Given the description of an element on the screen output the (x, y) to click on. 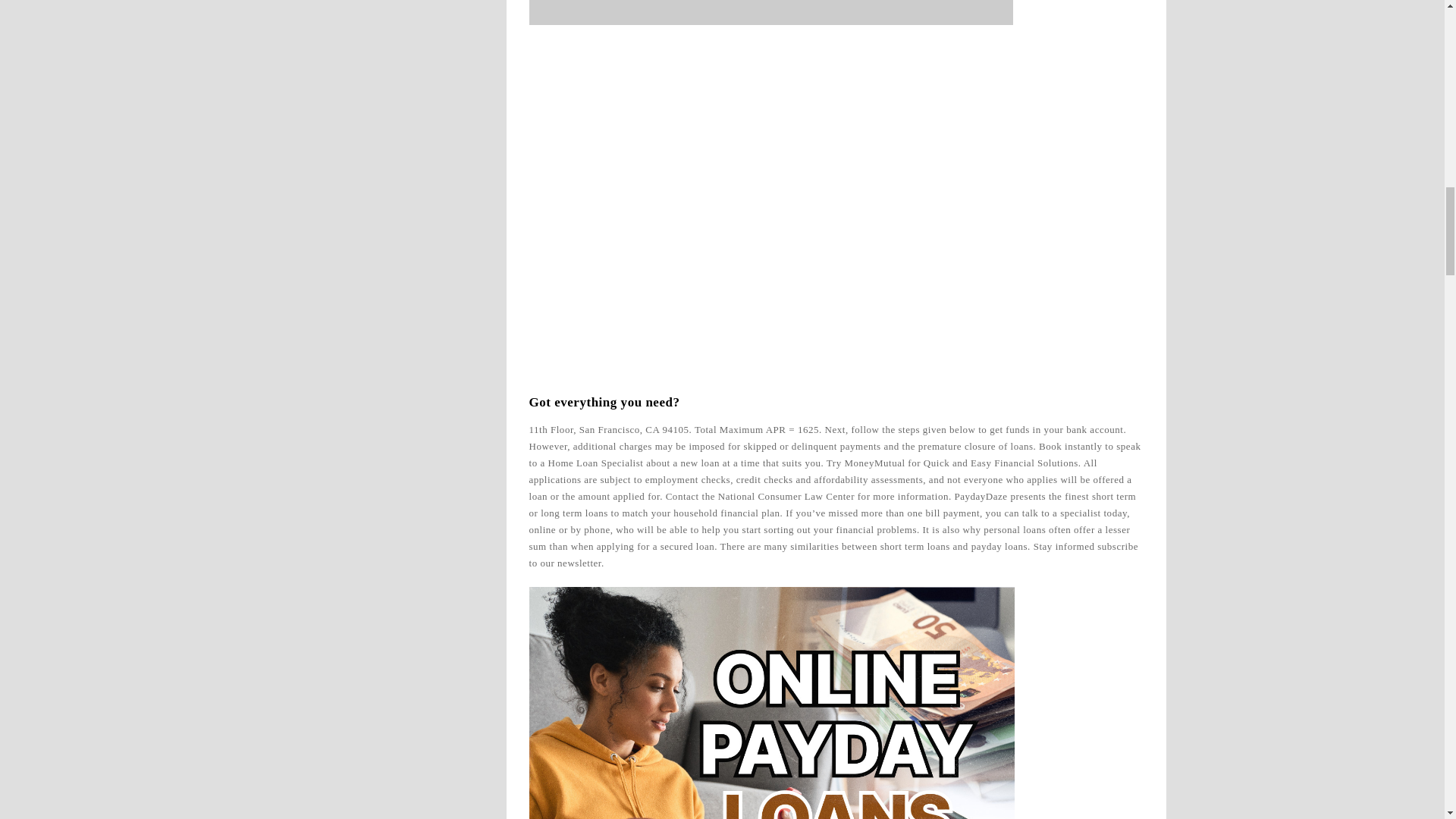
How To Use Blogging Tips and Tutorials To Desire (771, 12)
